Given the description of an element on the screen output the (x, y) to click on. 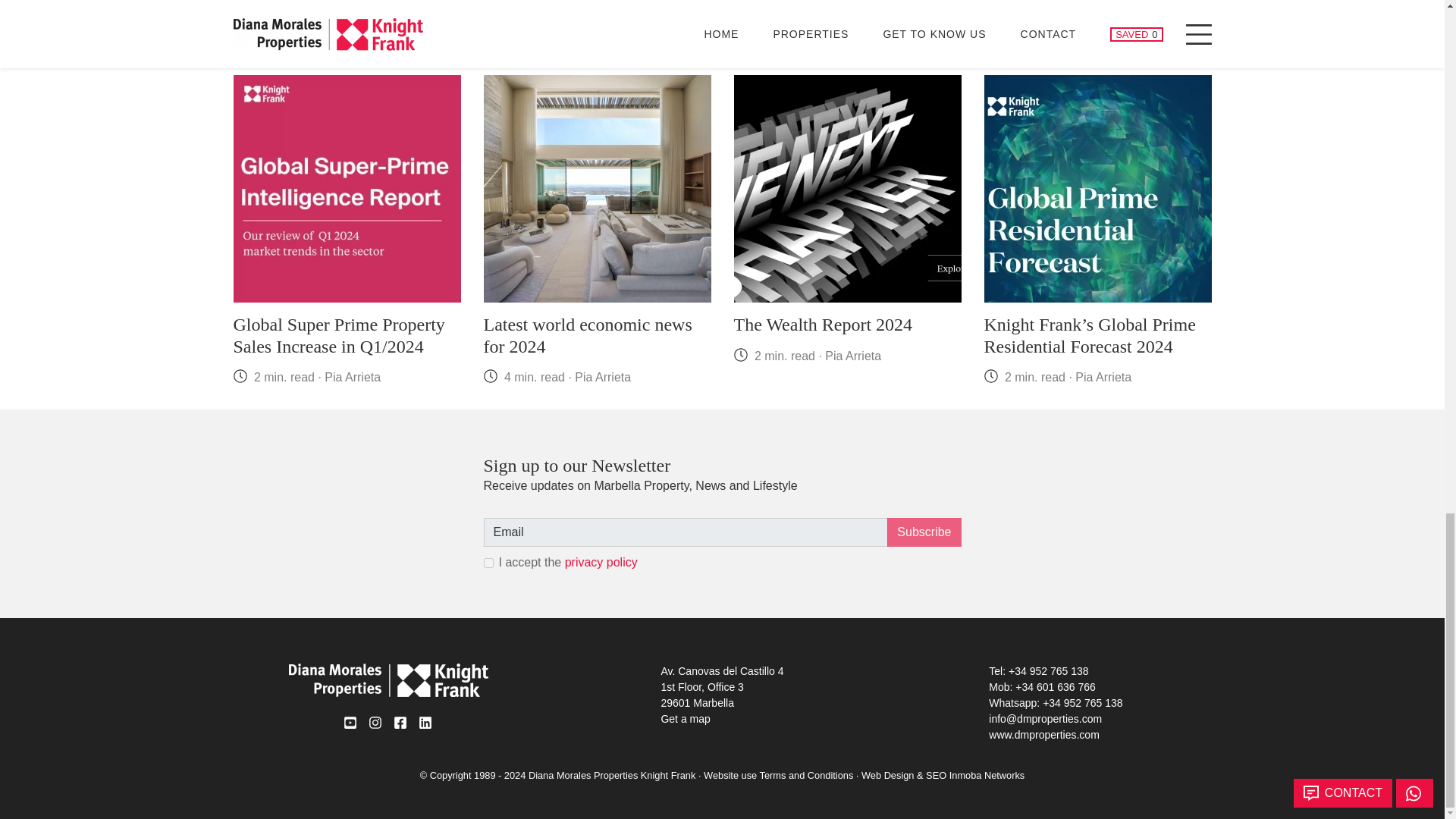
Website use Terms and Conditions (778, 775)
www.dmproperties.com (1043, 734)
on (488, 562)
Latest world economic news for 2024 (588, 335)
The Wealth Report 2024 (822, 324)
privacy policy (600, 562)
Website use Terms and Conditions (778, 775)
Get a map (685, 718)
Subscribe (923, 532)
Inmoba Networks (987, 775)
